Given the description of an element on the screen output the (x, y) to click on. 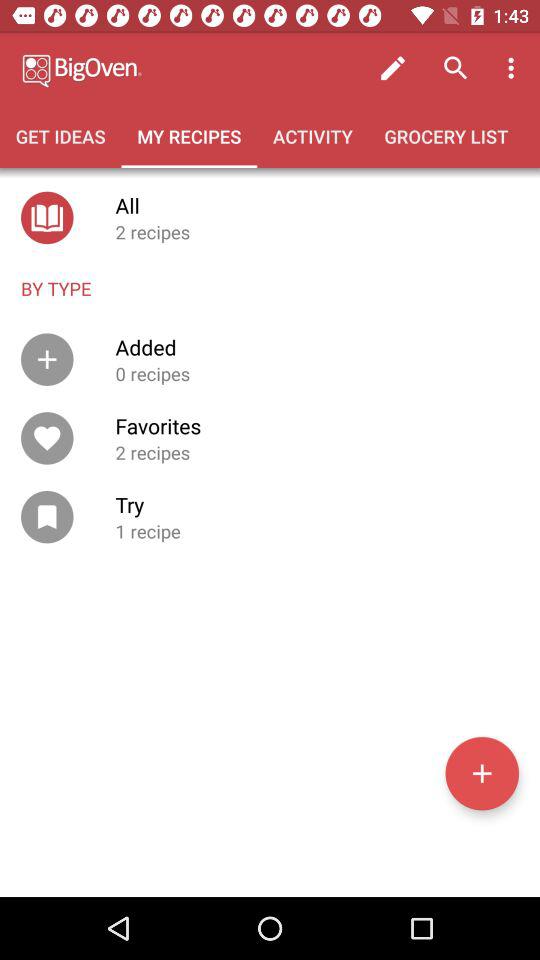
add a new recipe (482, 773)
